Given the description of an element on the screen output the (x, y) to click on. 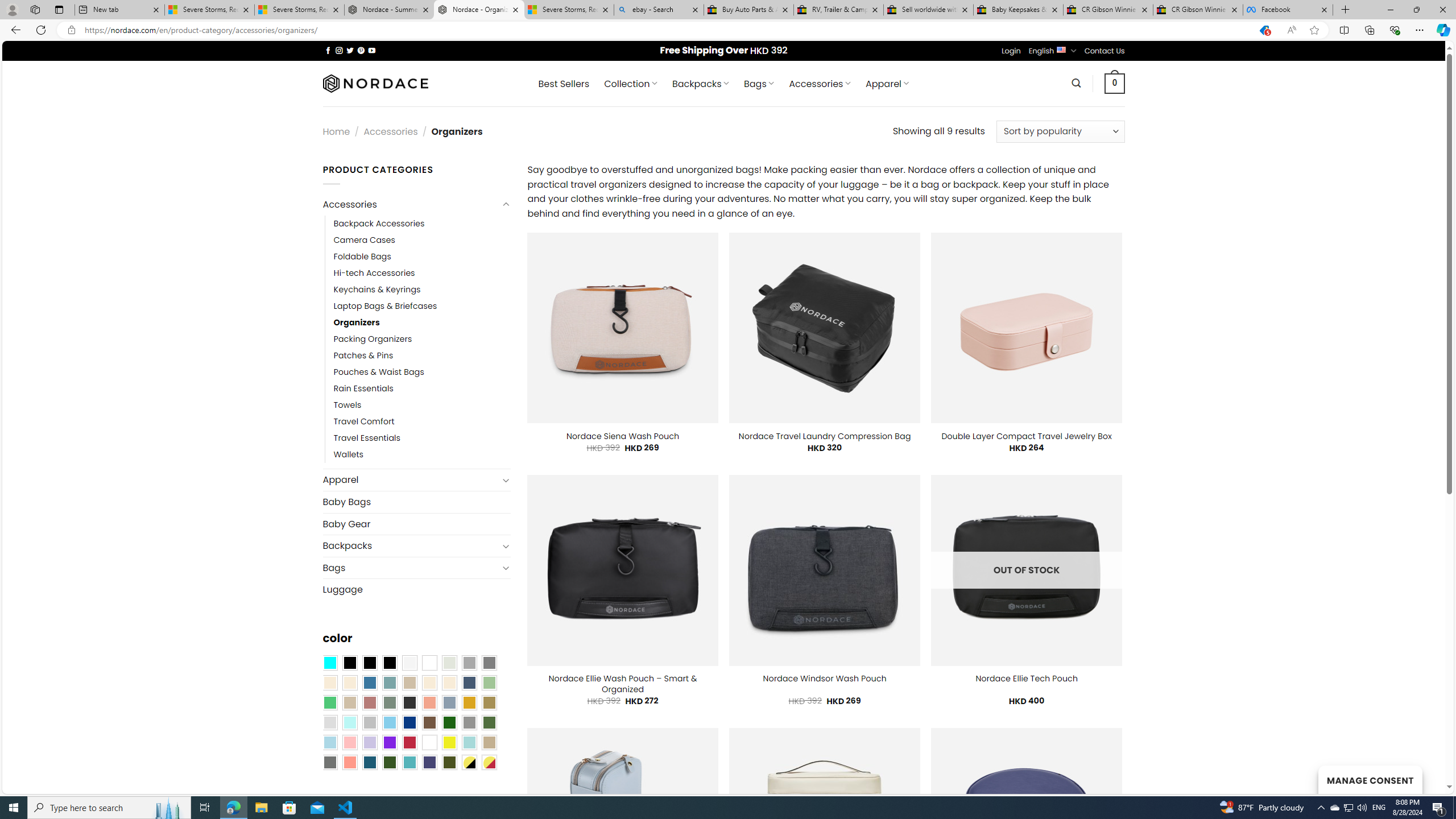
New Tab (1346, 9)
Baby Bags (416, 501)
Login (1010, 50)
Rose (369, 702)
ebay - Search (658, 9)
Laptop Bags & Briefcases (384, 305)
Dusty Blue (449, 702)
